Given the description of an element on the screen output the (x, y) to click on. 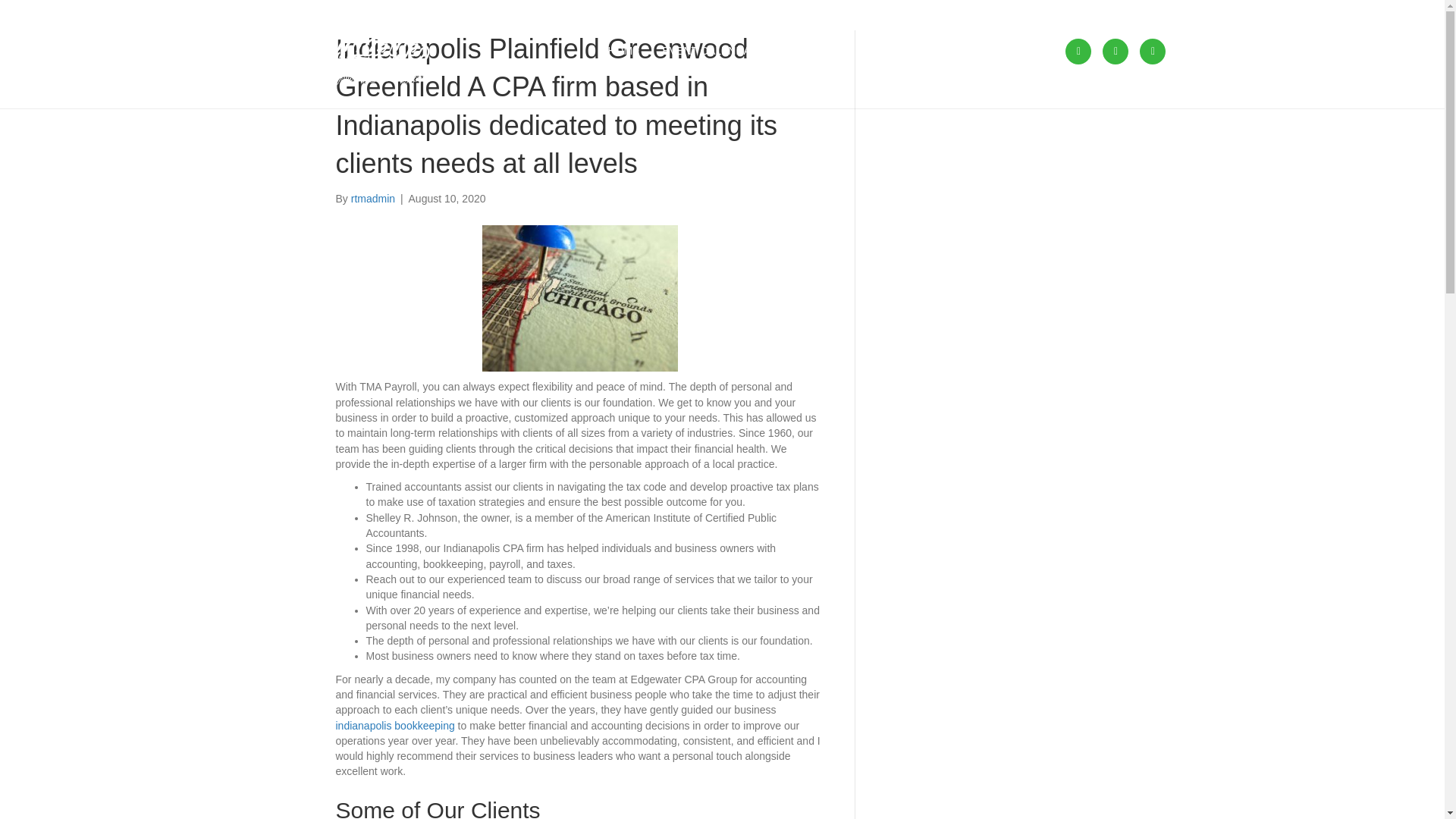
EVENT CALENDAR (710, 51)
indianapolis bookkeeping (394, 725)
OUR MENU (810, 51)
CONTACT (1017, 51)
GALLERY (945, 51)
ABOUT (879, 51)
HOME (622, 51)
rtmadmin (372, 198)
